Given the description of an element on the screen output the (x, y) to click on. 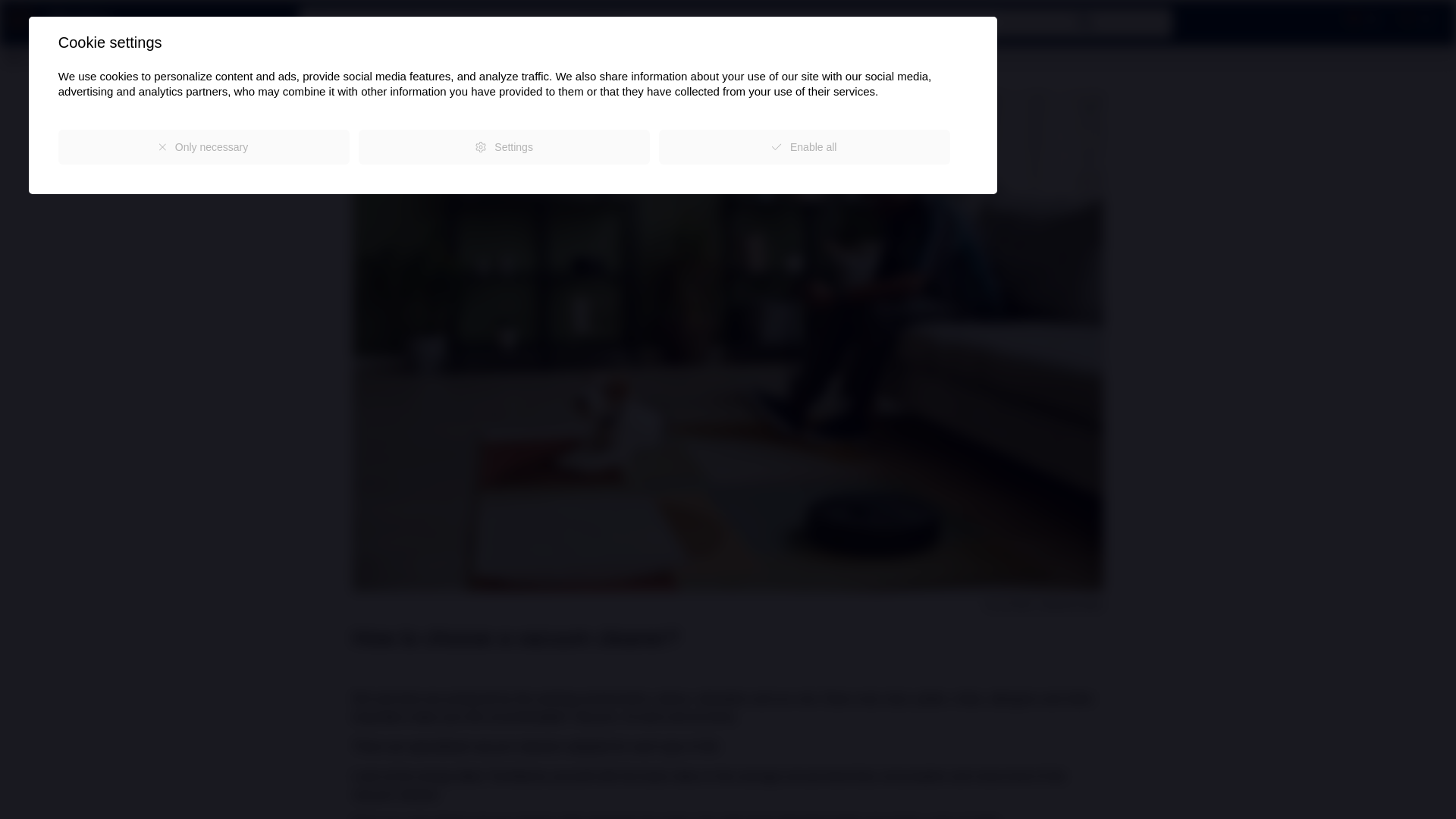
My favorite products (1412, 19)
Blog (50, 56)
0 (1412, 19)
How to choose a vacuum cleaner? (154, 56)
Modov (59, 19)
Blog (50, 56)
0 (1359, 19)
How to choose a vacuum cleaner? (154, 56)
Last viewed products (1359, 19)
Discover new options! (19, 56)
